Given the description of an element on the screen output the (x, y) to click on. 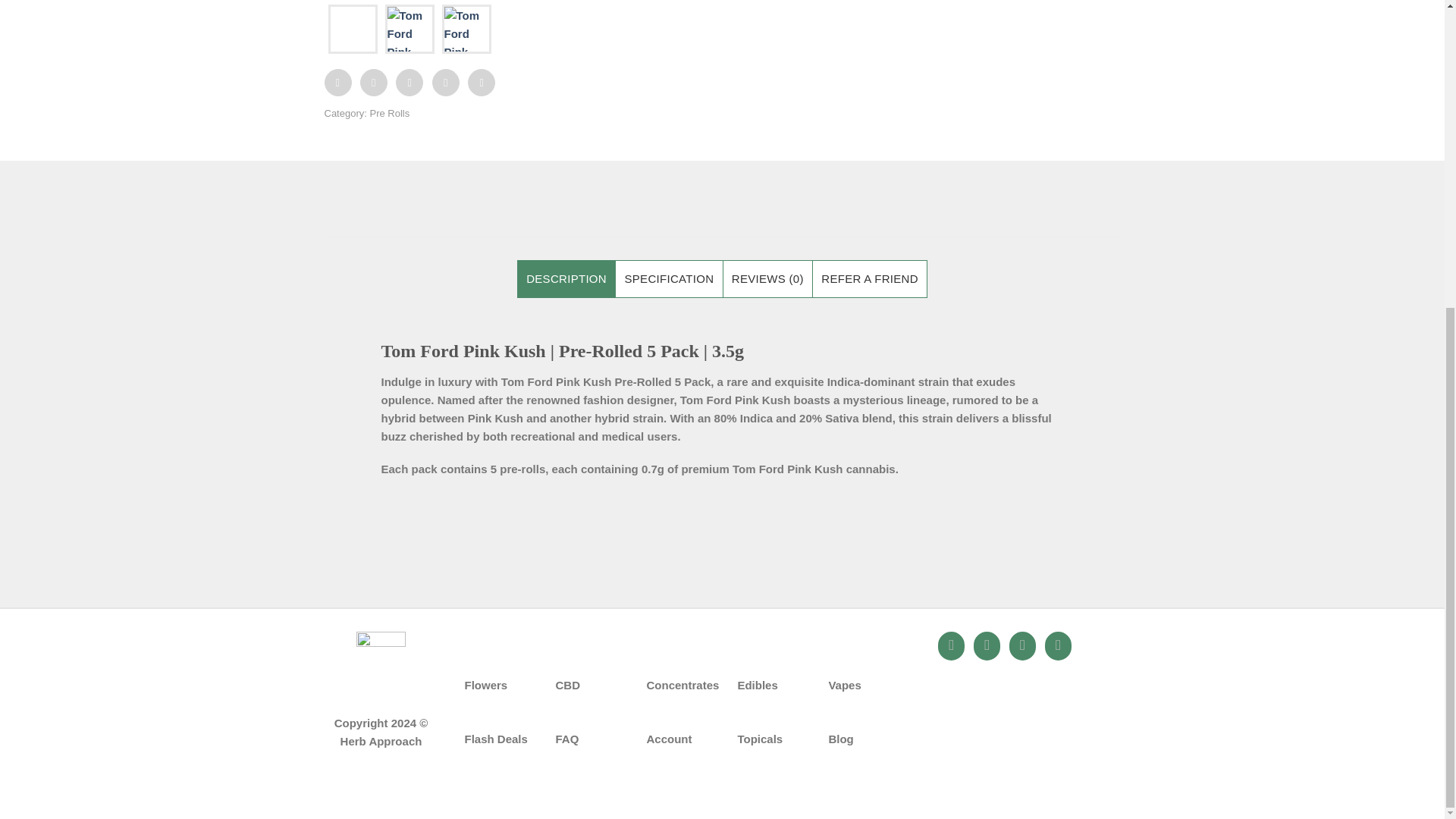
Share on Twitter (373, 82)
Share on Facebook (338, 82)
Email to a Friend (409, 82)
